Given the description of an element on the screen output the (x, y) to click on. 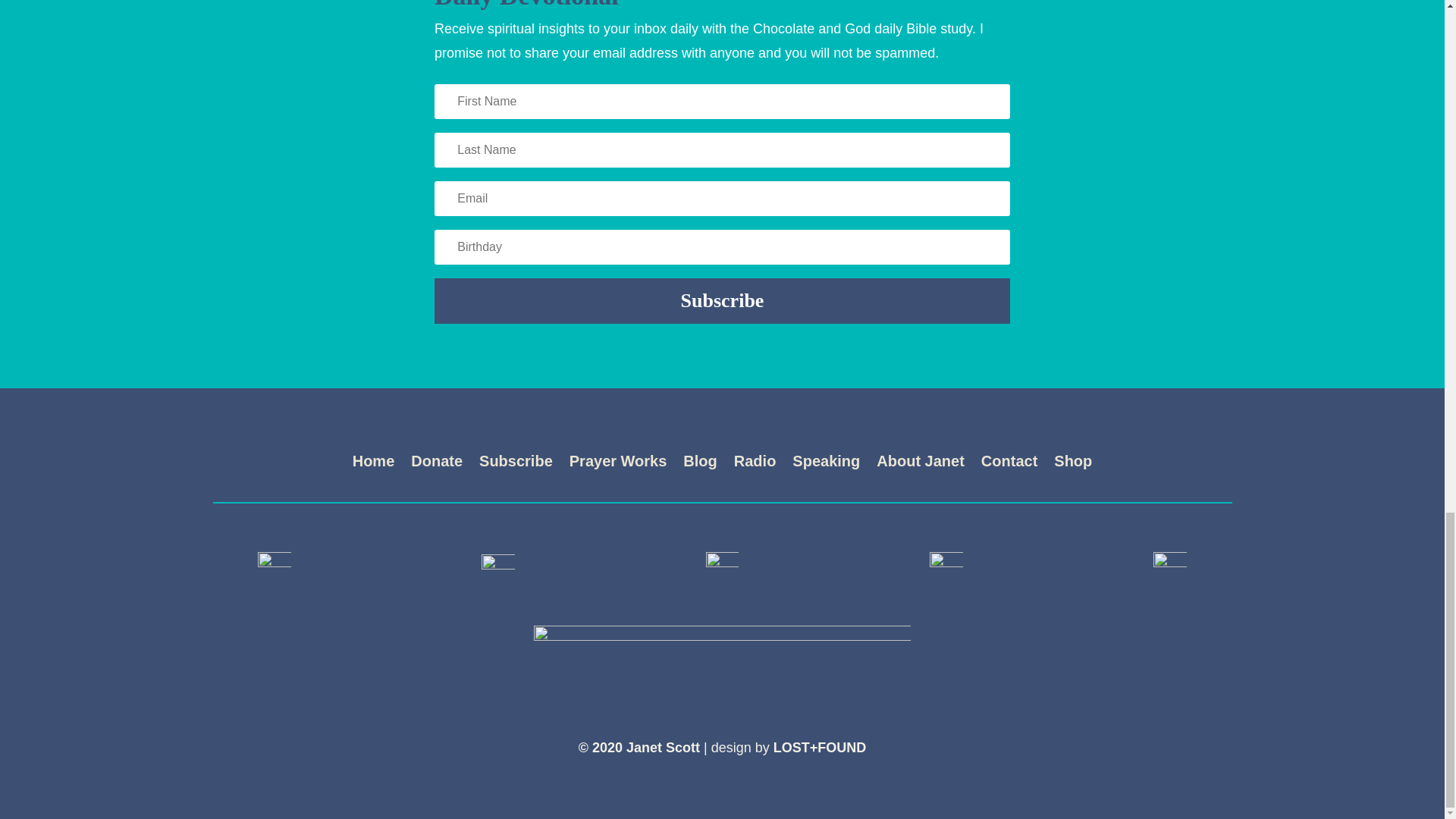
Shop (1073, 463)
Radio (754, 463)
Subscribe (721, 300)
Donate (436, 463)
Blog (699, 463)
linkedin-footer-icon (1169, 568)
pinterest-footer-icon (946, 567)
Speaking (826, 463)
Home (373, 463)
instagram-footer-icon (722, 567)
Subscribe (516, 463)
twitter-footer-icon (498, 566)
facebok-footer-icon (274, 567)
About Janet (919, 463)
Prayer Works (617, 463)
